Given the description of an element on the screen output the (x, y) to click on. 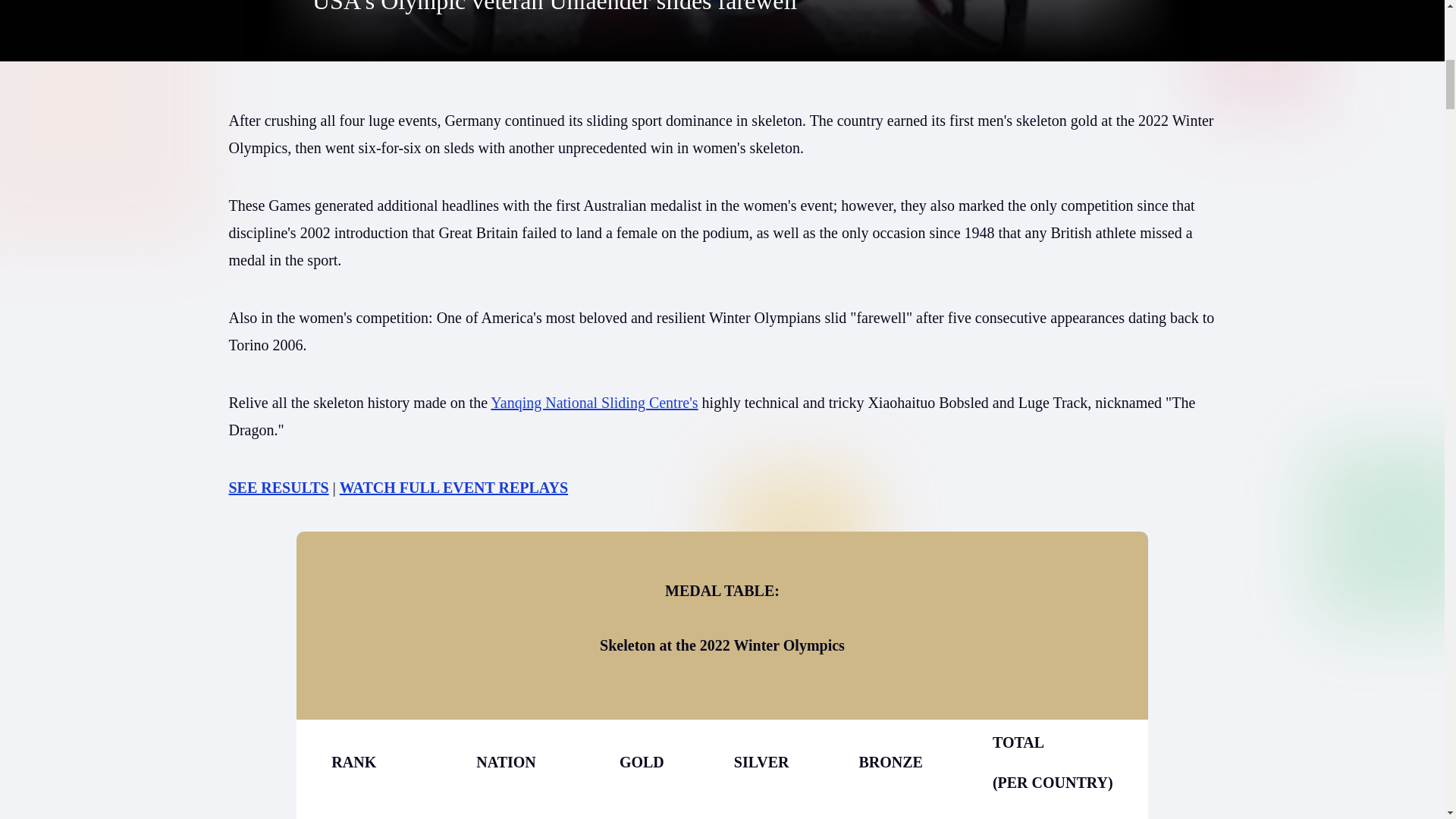
SEE RESULTS (278, 487)
WATCH FULL EVENT REPLAYS (453, 487)
USA's Olympic veteran Uhlaender slides farewell (554, 7)
Yanqing National Sliding Centre's (593, 402)
4m 22s (721, 30)
